Given the description of an element on the screen output the (x, y) to click on. 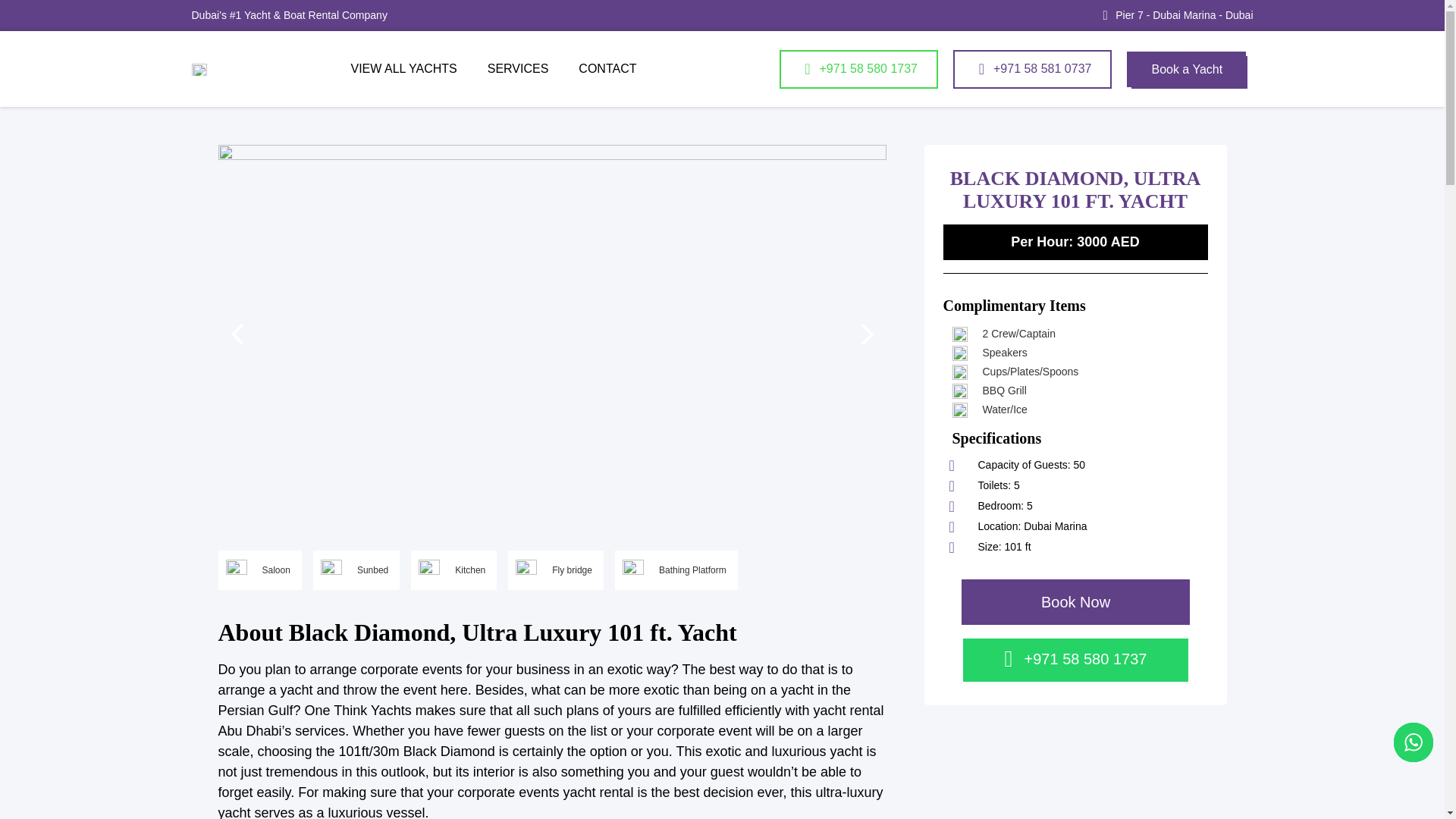
SERVICES (517, 69)
Pier 7 - Dubai Marina - Dubai (1183, 15)
CONTACT (606, 69)
VIEW ALL YACHTS (402, 69)
